Given the description of an element on the screen output the (x, y) to click on. 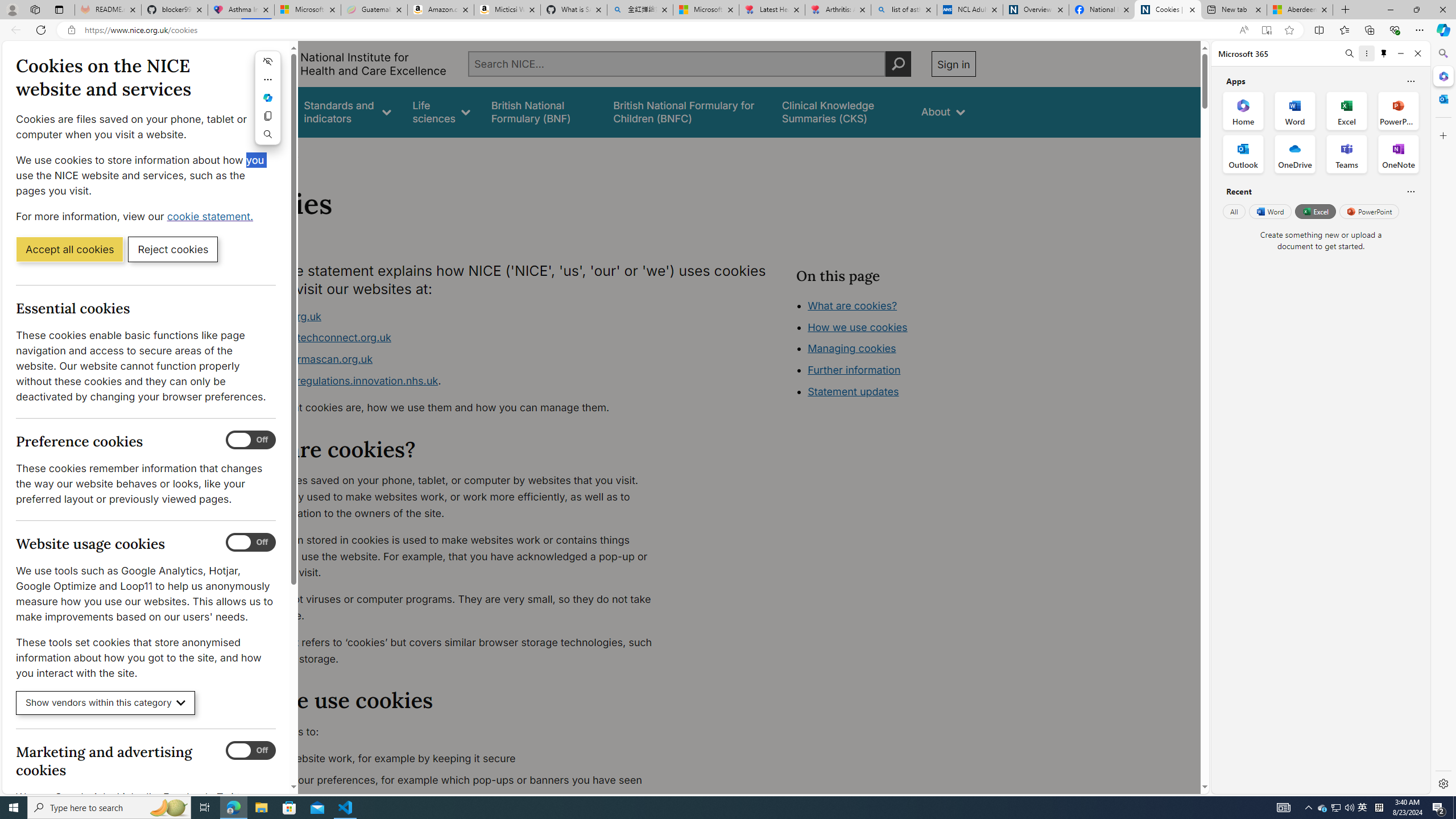
Home Office App (1243, 110)
Unpin side pane (1383, 53)
Guidance (260, 111)
Managing cookies (852, 348)
Life sciences (440, 111)
Show vendors within this category (105, 703)
Excel (1315, 210)
Website usage cookies (250, 542)
British National Formulary for Children (BNFC) (686, 111)
NCL Adult Asthma Inhaler Choice Guideline (969, 9)
